Given the description of an element on the screen output the (x, y) to click on. 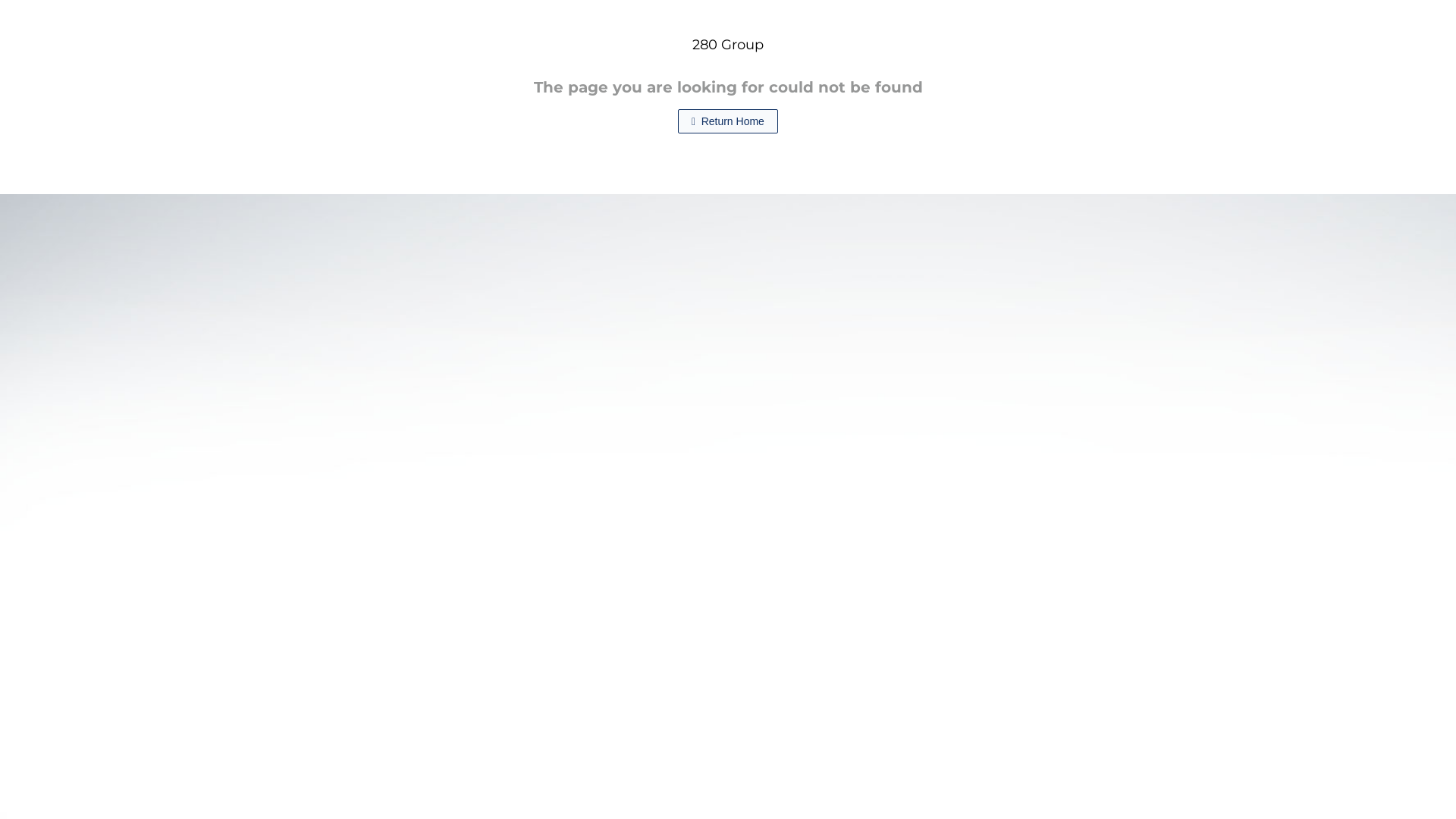
Return Home Element type: text (727, 121)
280 Group Element type: text (727, 44)
